Given the description of an element on the screen output the (x, y) to click on. 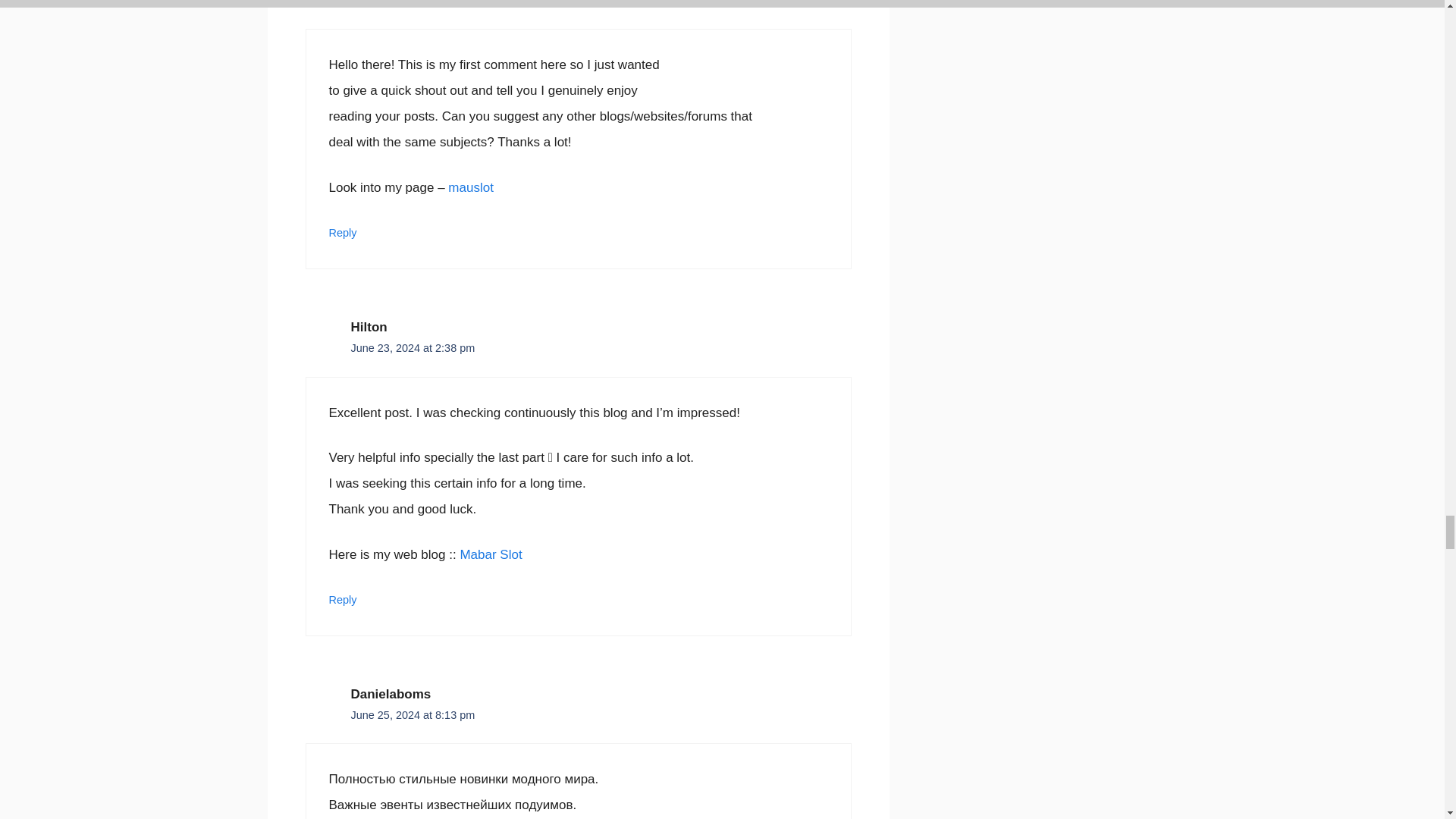
June 23, 2024 at 12:33 am (415, 3)
